Given the description of an element on the screen output the (x, y) to click on. 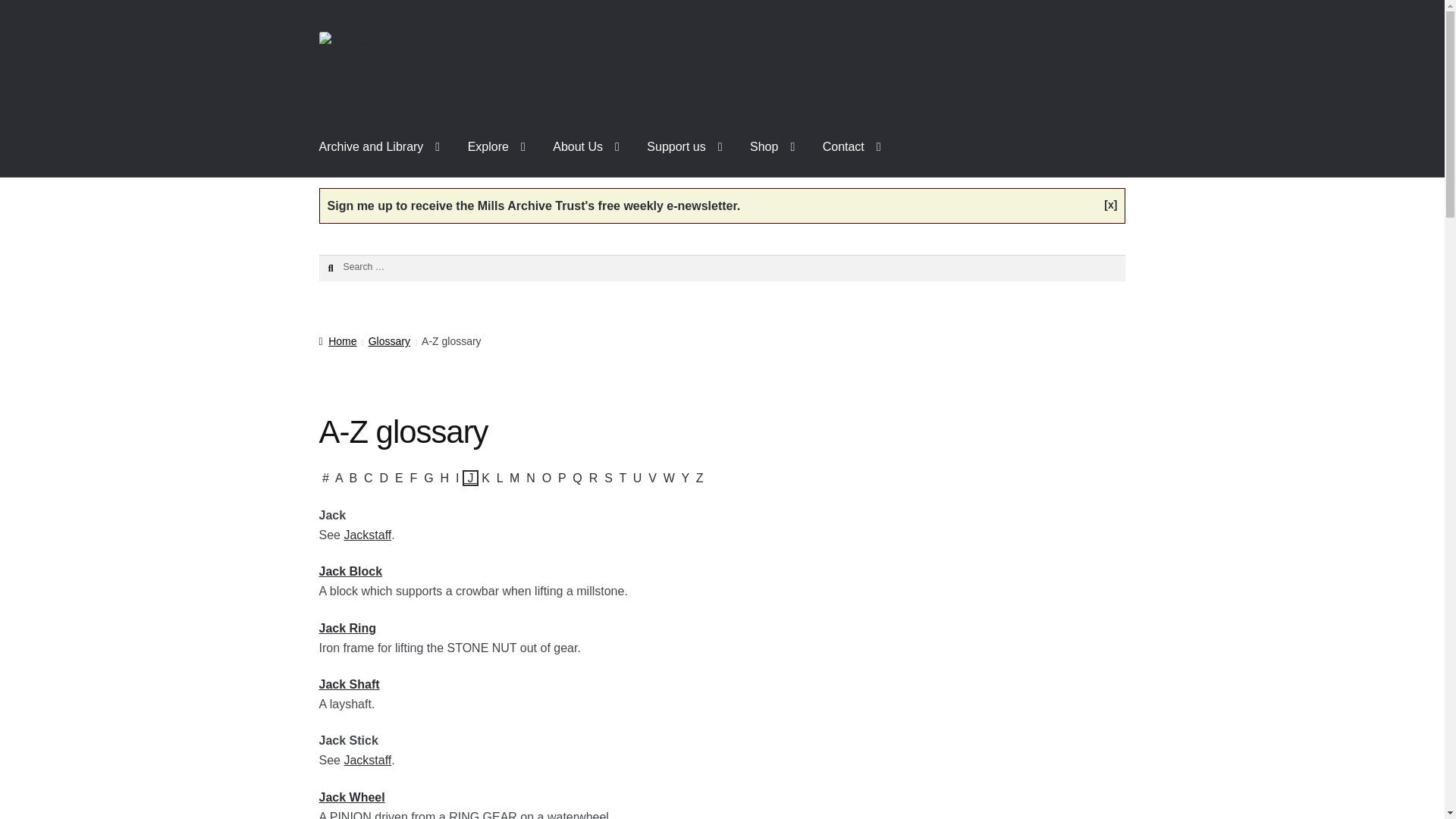
Archive and Library (379, 146)
Explore (496, 146)
